Given the description of an element on the screen output the (x, y) to click on. 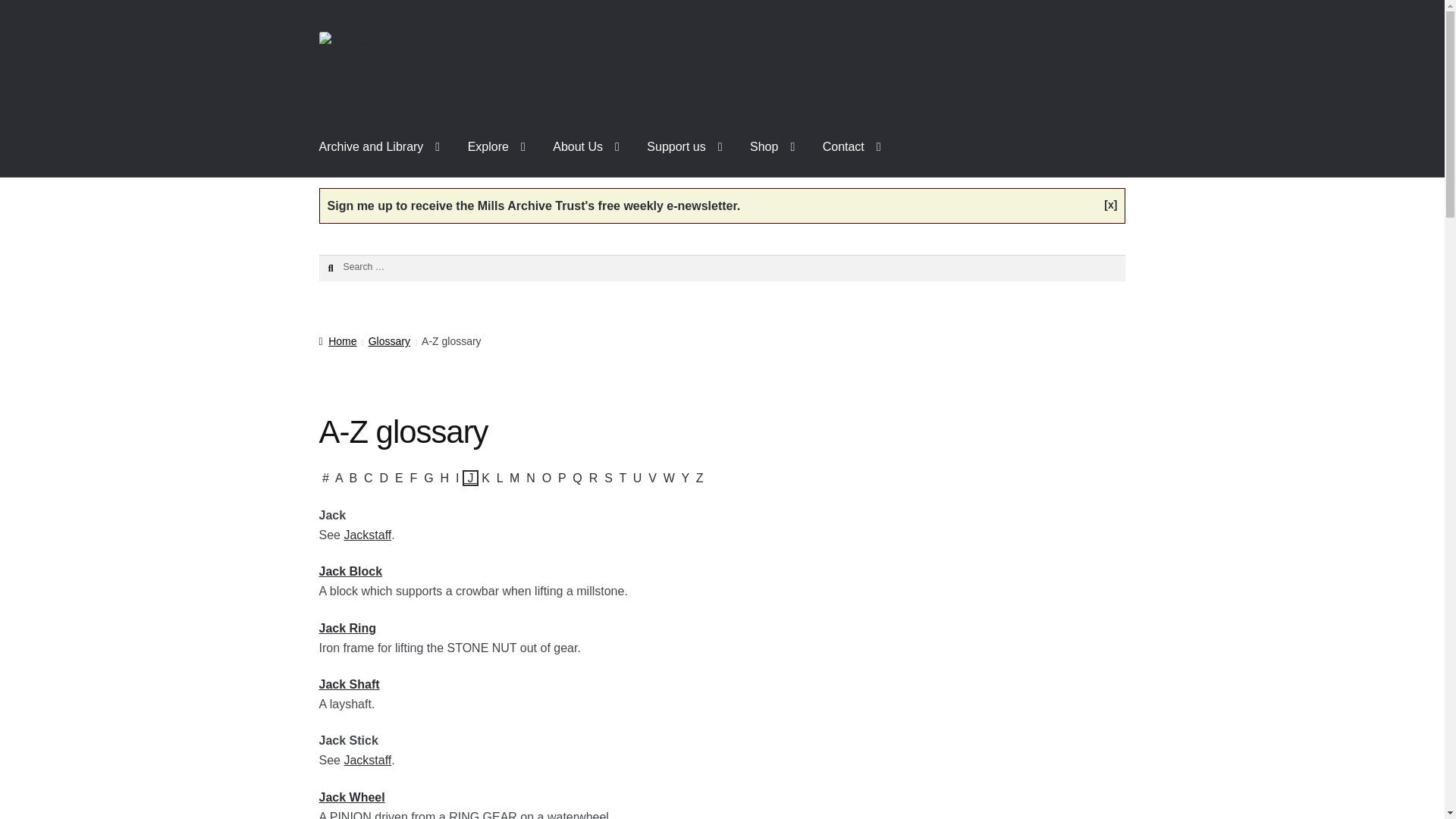
Archive and Library (379, 146)
Explore (496, 146)
